Given the description of an element on the screen output the (x, y) to click on. 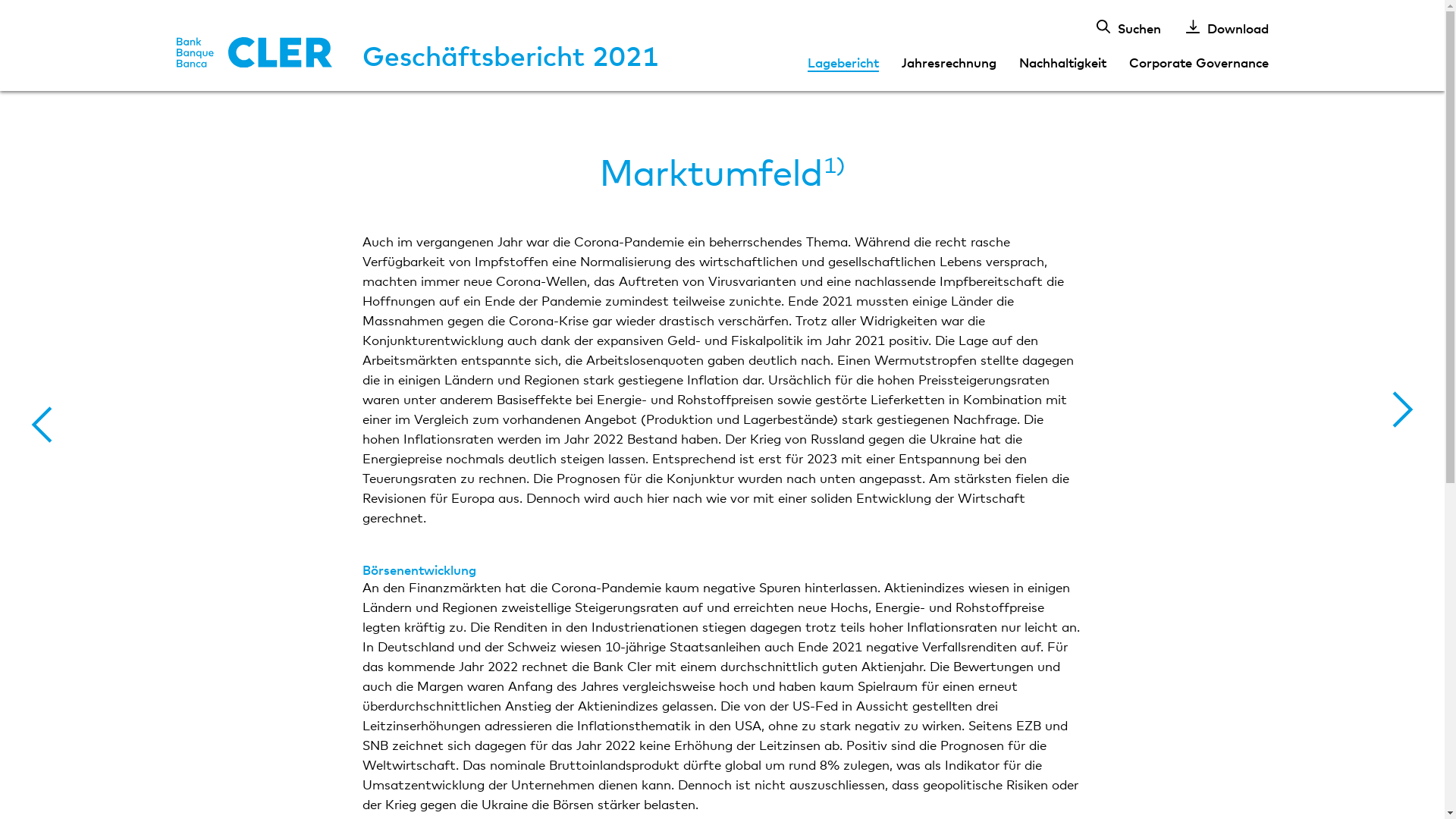
Jahresrechnung Element type: text (948, 61)
Organigramm Element type: hover (41, 424)
Corporate Governance Element type: text (1198, 61)
Suchen Element type: text (1128, 27)
Nachhaltigkeit Element type: text (1062, 61)
Download Element type: text (1227, 27)
Bedeutende Ereignisse Element type: hover (1402, 409)
Lagebericht Element type: text (843, 61)
